Given the description of an element on the screen output the (x, y) to click on. 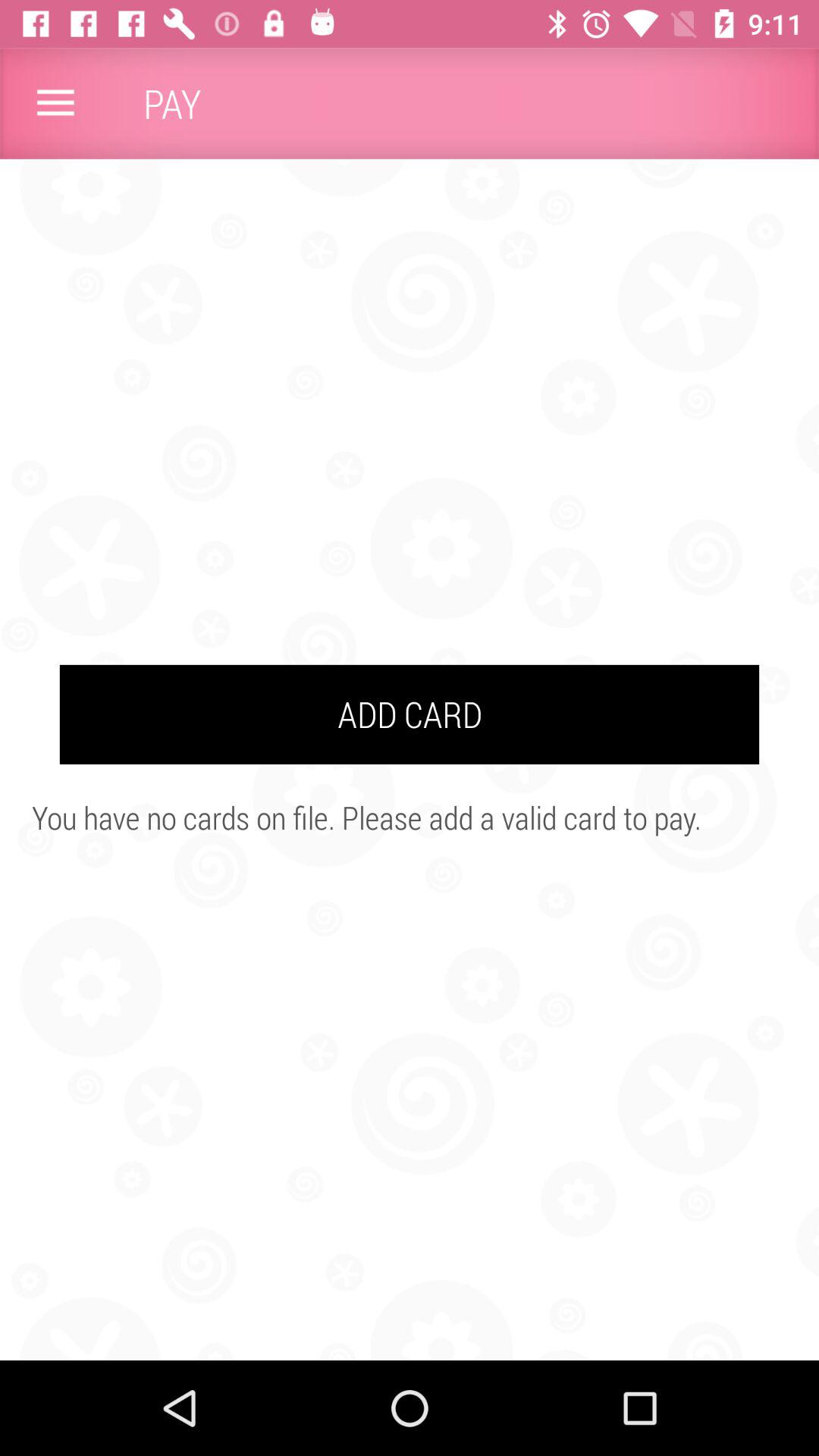
launch item next to the pay item (55, 103)
